Given the description of an element on the screen output the (x, y) to click on. 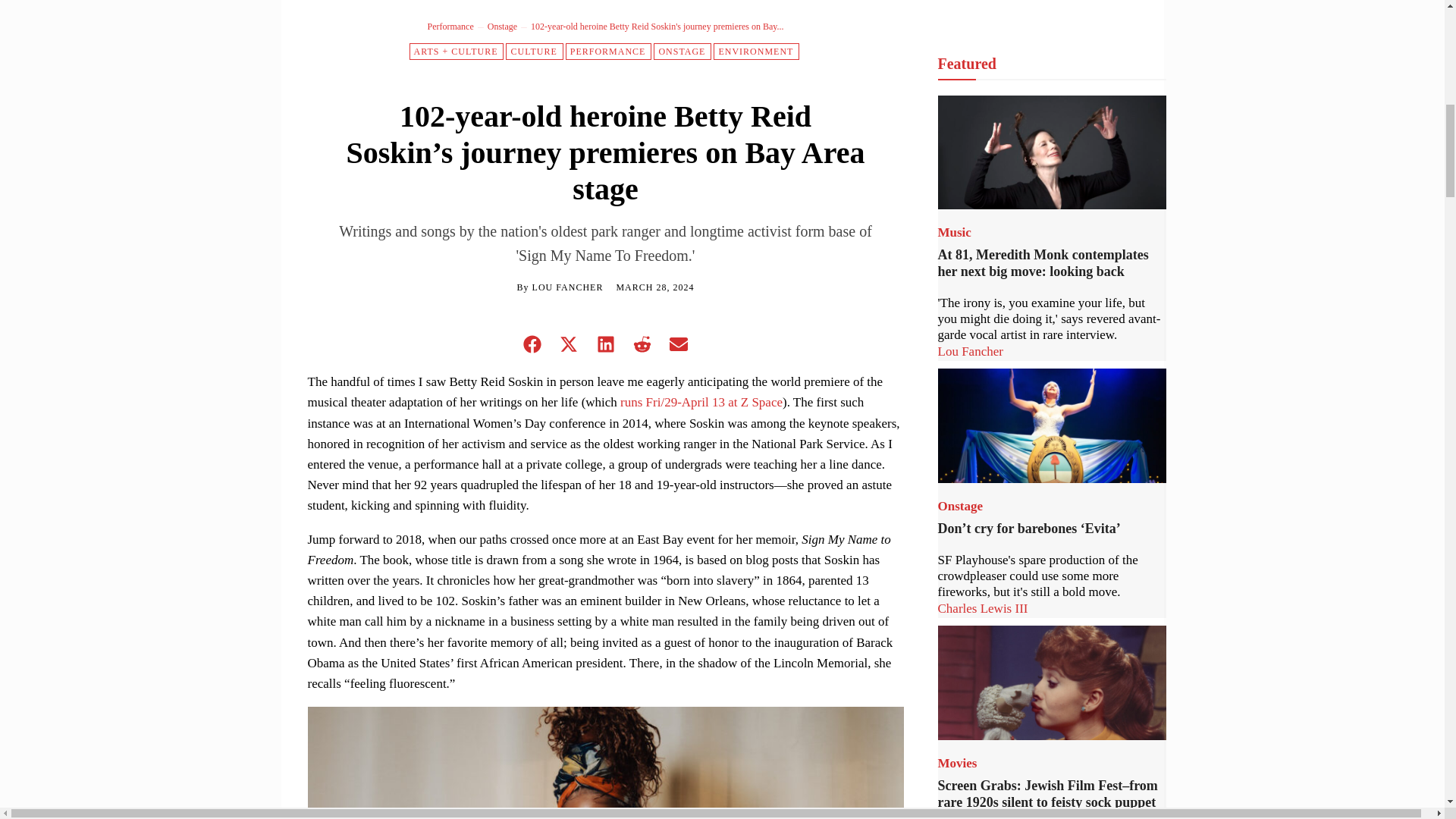
View all posts in Performance (449, 26)
View all posts in Onstage (501, 26)
